Given the description of an element on the screen output the (x, y) to click on. 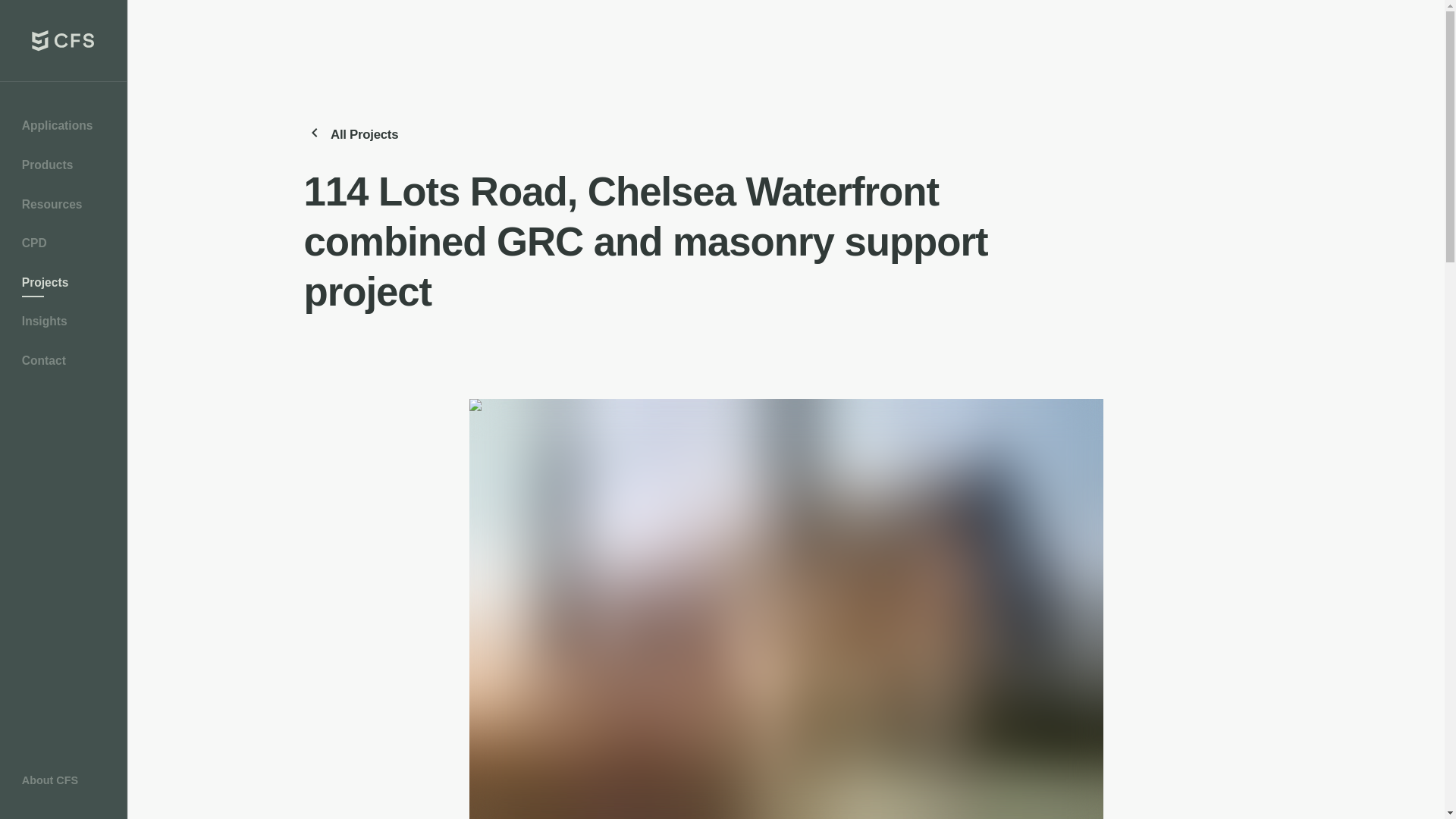
Fixing systems (64, 209)
Bar couplers (58, 169)
Concrete balconies (58, 287)
Parapet walls (58, 611)
Columns (64, 169)
Cast-in loops (58, 247)
Void forms (58, 767)
Precast facades (64, 364)
Insulated concrete sandwich panel systems (58, 370)
Accessories (64, 482)
Fixing inserts (58, 325)
Panel restraints (58, 572)
Panel hangers (58, 533)
Masonry facades (64, 287)
Balconies (64, 129)
